Given the description of an element on the screen output the (x, y) to click on. 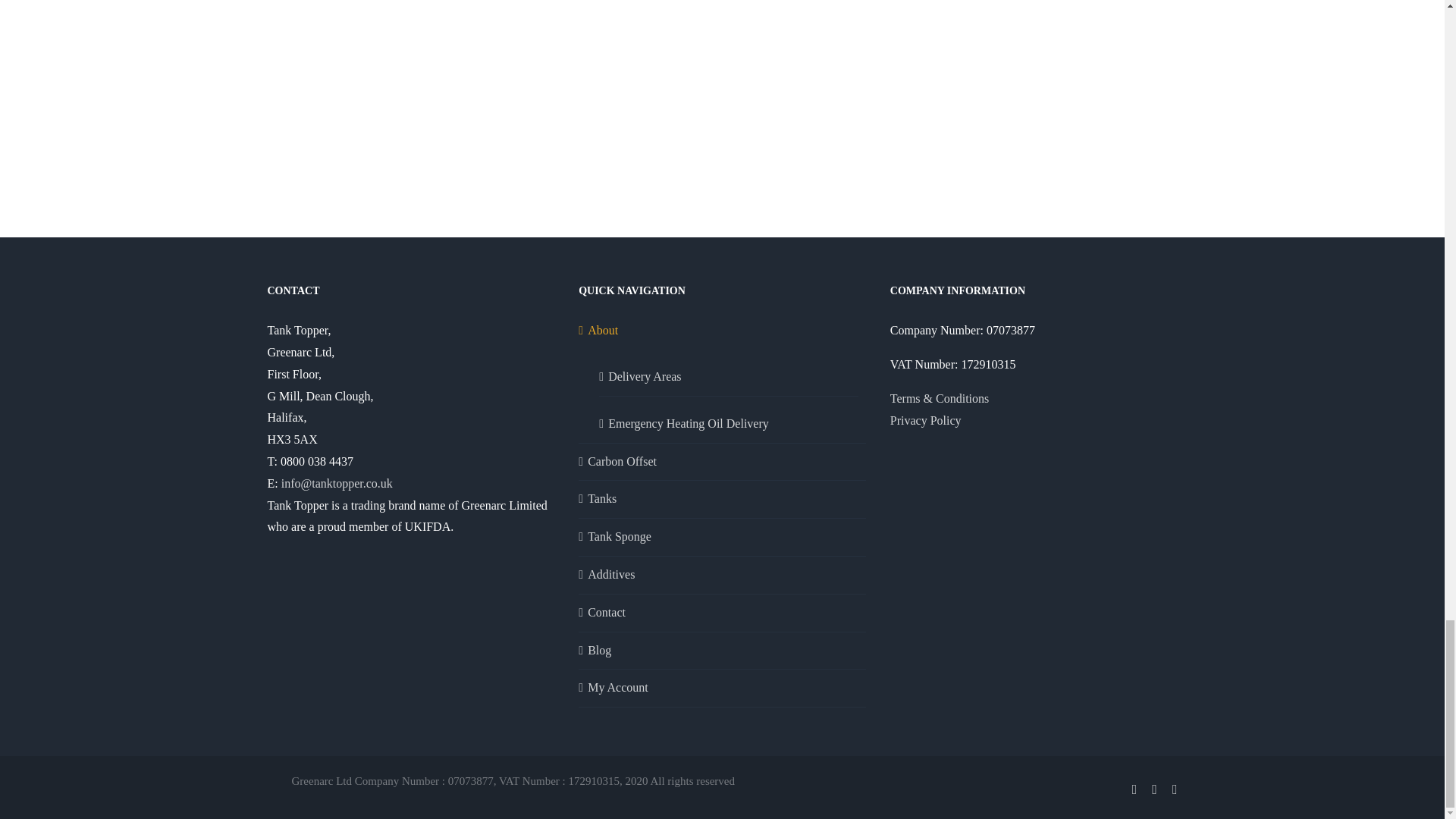
Carbon Offset (723, 462)
Privacy Policy (924, 420)
Tanks (723, 499)
Tank Sponge (723, 536)
Submit (603, 38)
About (723, 331)
Contact (723, 612)
Emergency Heating Oil Delivery (729, 419)
My Account (723, 688)
Blog (723, 650)
Delivery Areas (729, 372)
Additives (723, 575)
